Given the description of an element on the screen output the (x, y) to click on. 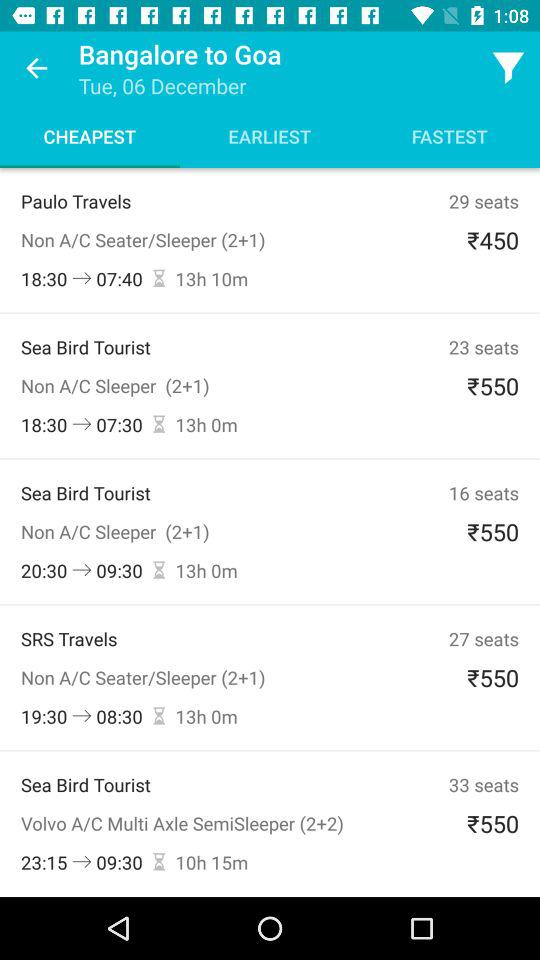
select the arrow in the first column (81, 278)
select the arrow from the second column (81, 424)
click on the filter icon which is in the top right corner (508, 68)
